Given the description of an element on the screen output the (x, y) to click on. 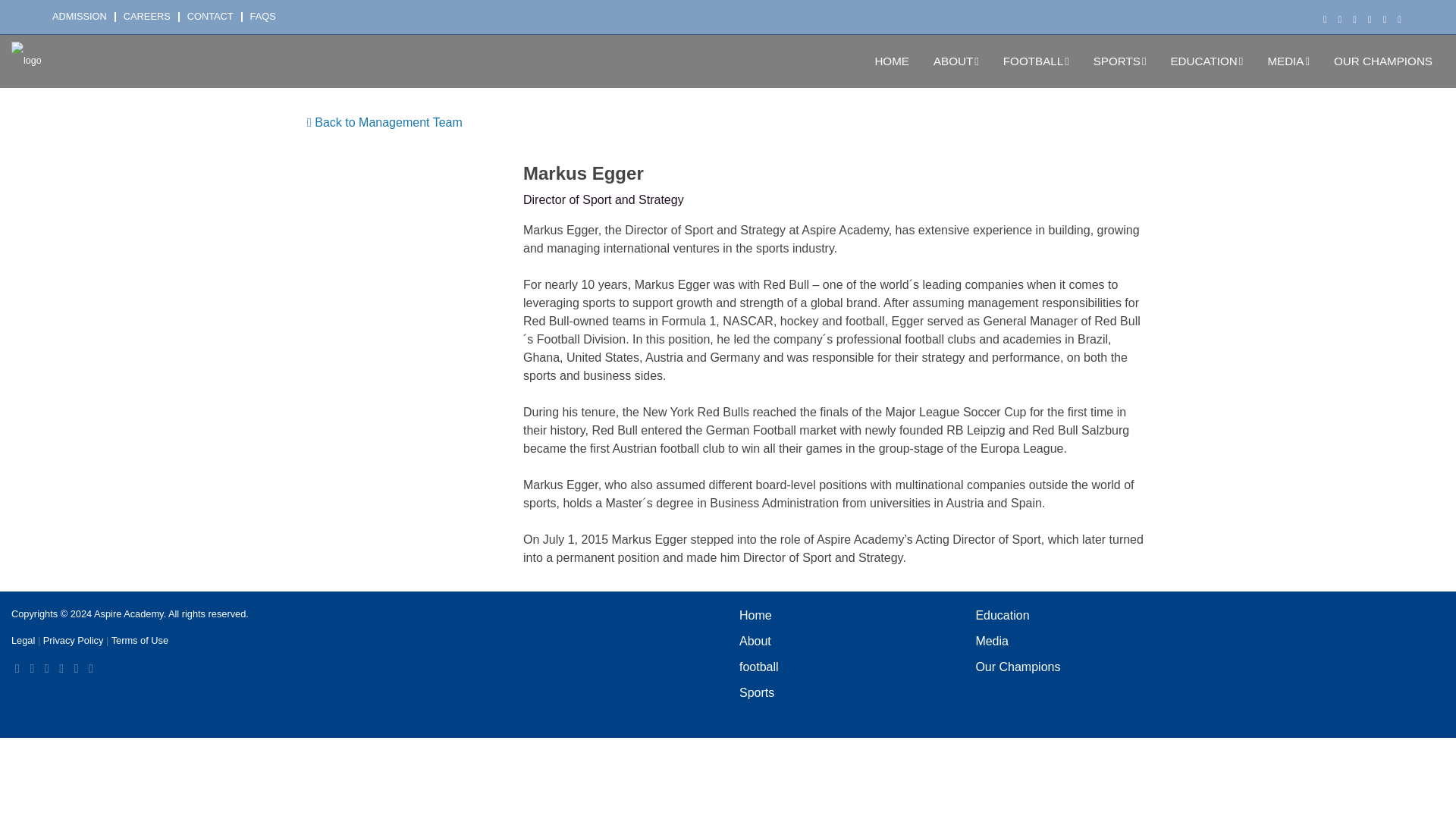
FOOTBALL (1036, 60)
EDUCATION (1206, 60)
CAREERS (151, 17)
SPORTS (1119, 60)
HOME (891, 60)
ABOUT (956, 60)
ADMISSION (84, 17)
FAQS (266, 17)
CONTACT (215, 17)
